Given the description of an element on the screen output the (x, y) to click on. 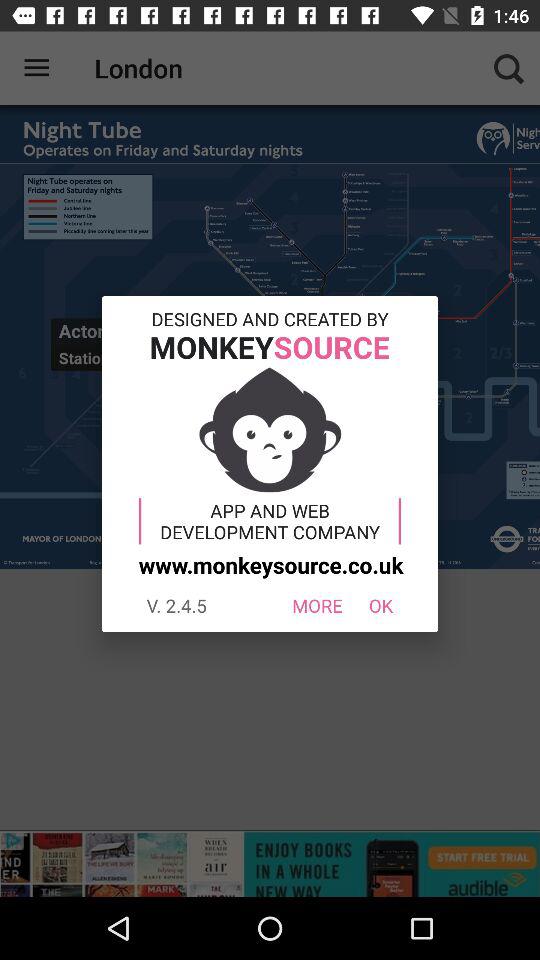
press the icon above v 2 4 (268, 564)
